Given the description of an element on the screen output the (x, y) to click on. 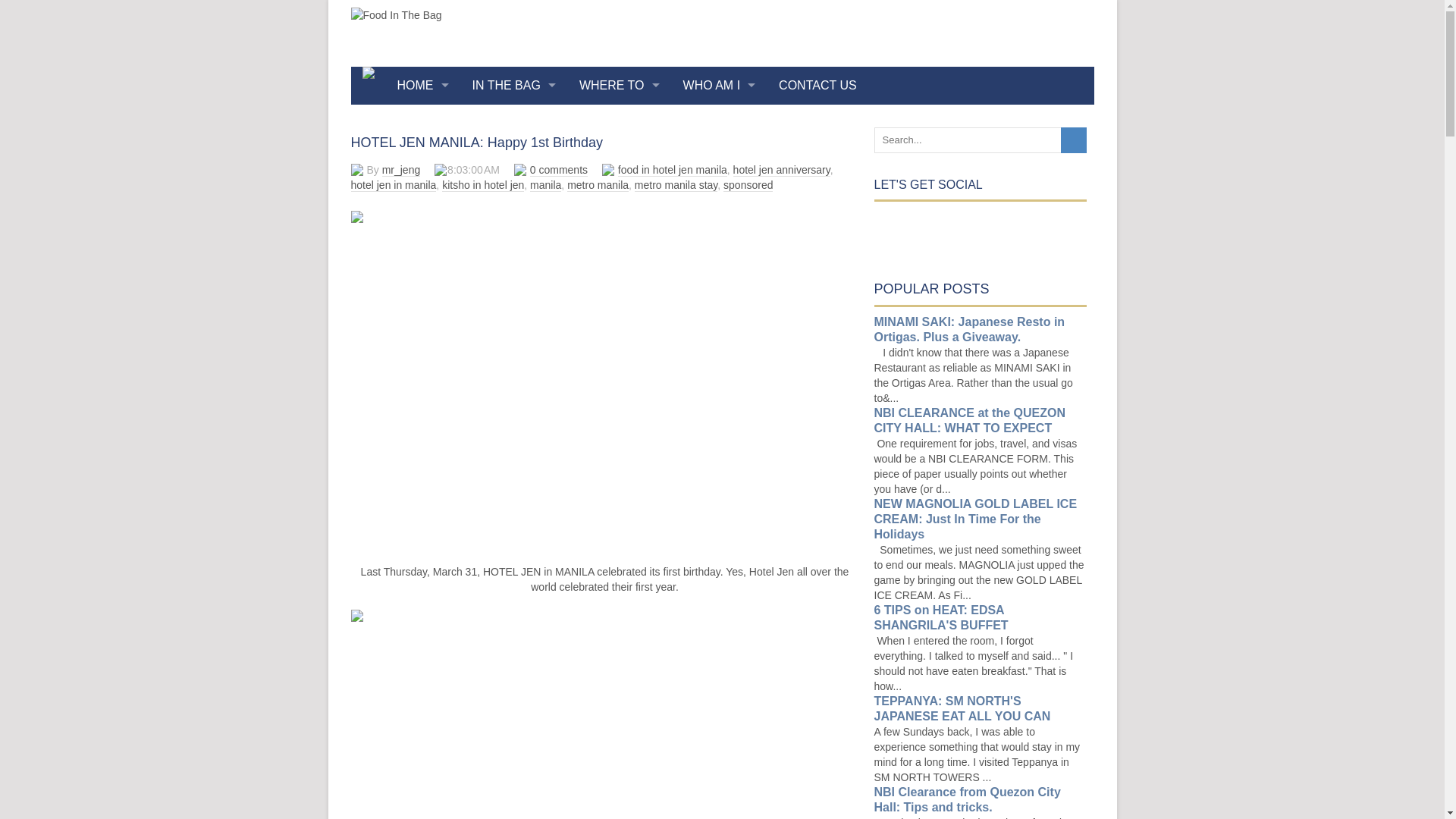
hotel jen in manila (392, 185)
food in hotel jen manila (671, 169)
sponsored (748, 185)
0 comments (558, 169)
metro manila stay (675, 185)
hotel jen anniversary (781, 169)
HOTEL JEN MANILA: Happy 1st Birthday (476, 142)
CONTACT US (817, 85)
WHERE TO (619, 85)
IN THE BAG (514, 85)
kitsho in hotel jen (483, 185)
manila (544, 185)
metro manila (597, 185)
HOME (422, 85)
WHO AM I (719, 85)
